Given the description of an element on the screen output the (x, y) to click on. 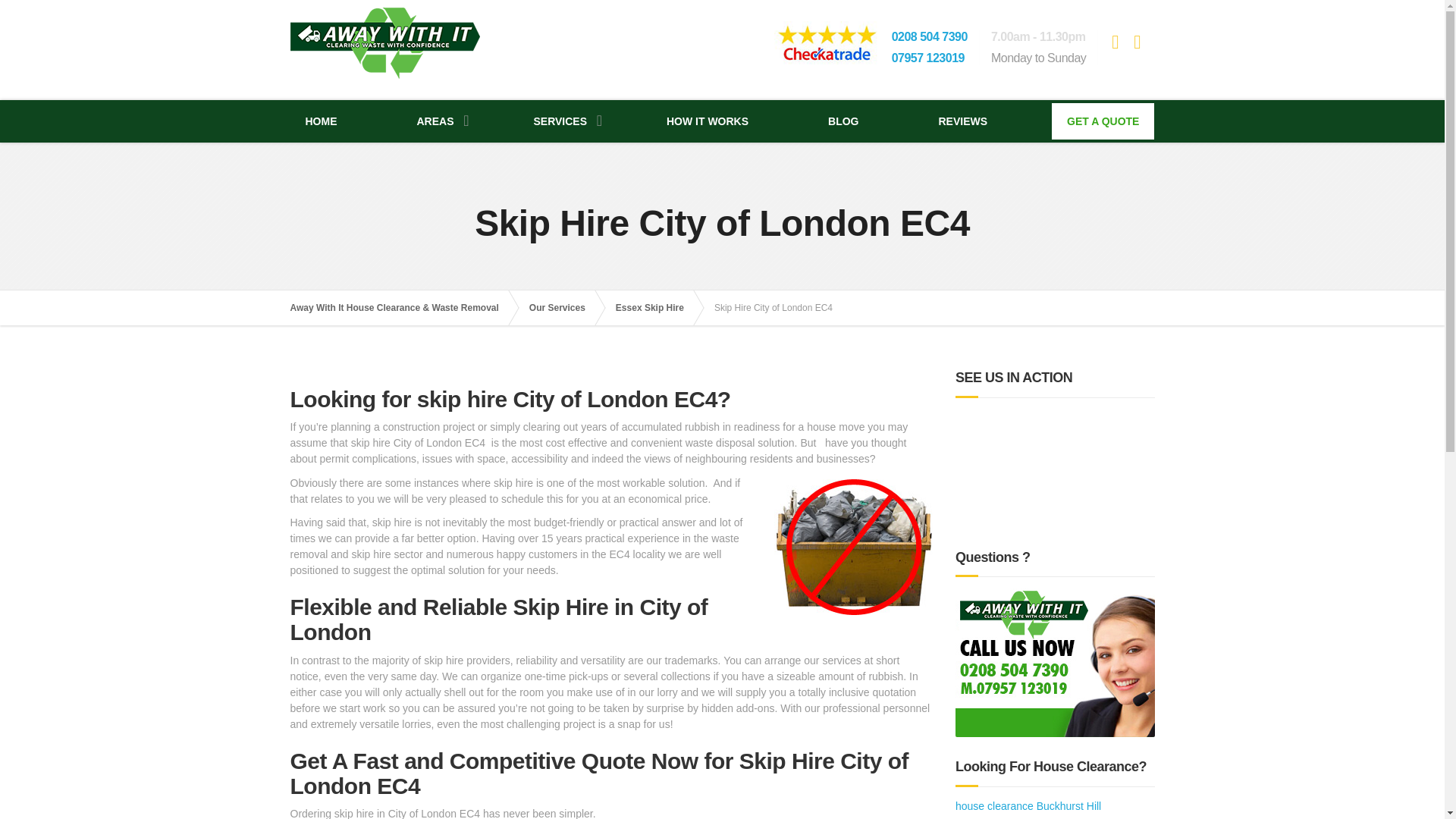
BLOG (842, 121)
Go to Our Services. (564, 307)
HOME (320, 121)
Go to Essex Skip Hire. (656, 307)
REVIEWS (963, 121)
AREAS (434, 121)
SERVICES (560, 121)
GET A QUOTE (1102, 121)
07957 123019 (927, 57)
HOW IT WORKS (706, 121)
